Given the description of an element on the screen output the (x, y) to click on. 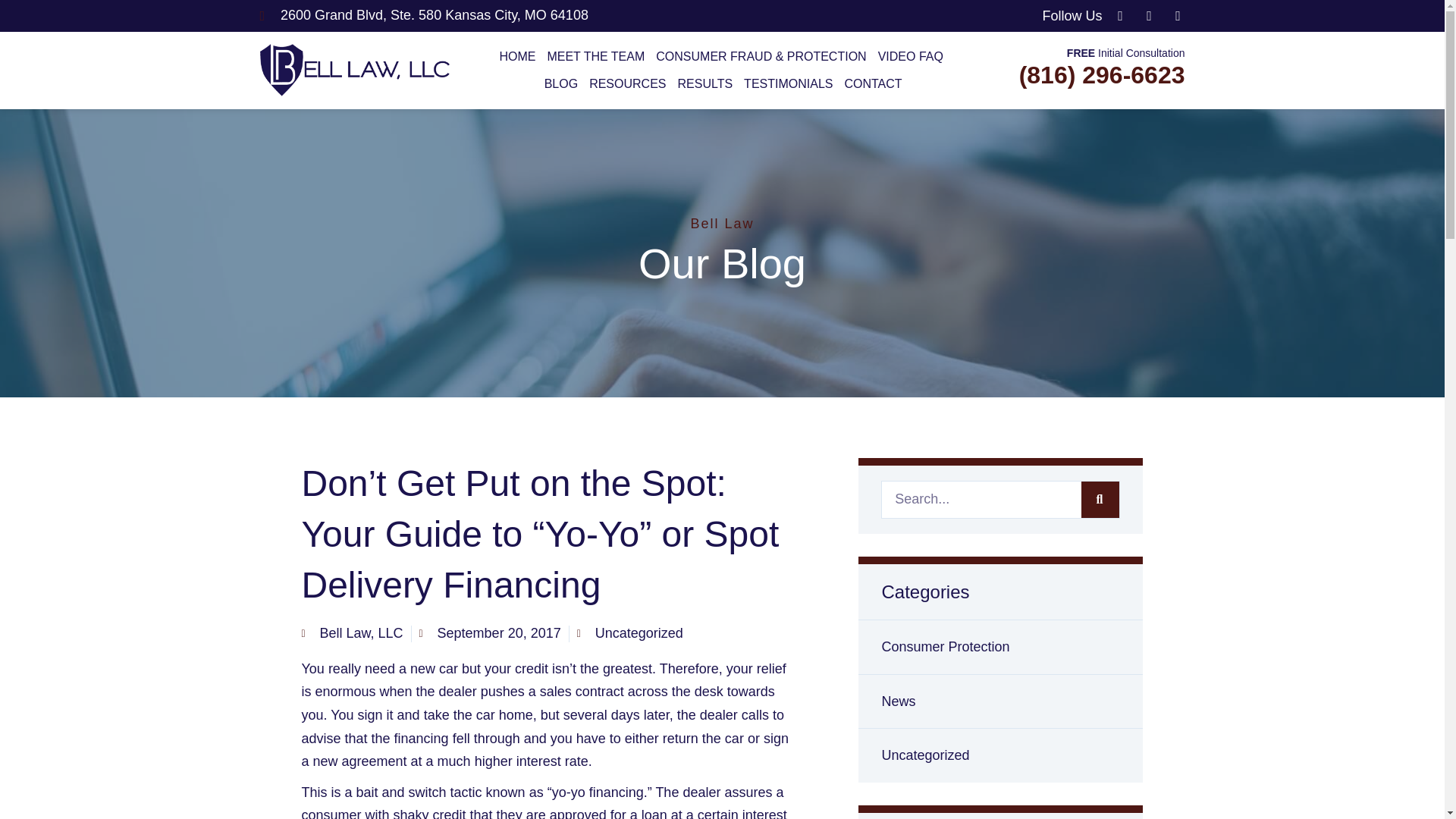
Search (1100, 499)
MEET THE TEAM (595, 56)
Search (981, 499)
HOME (516, 56)
2600 Grand Blvd, Ste. 580 Kansas City, MO 64108 (486, 15)
